Given the description of an element on the screen output the (x, y) to click on. 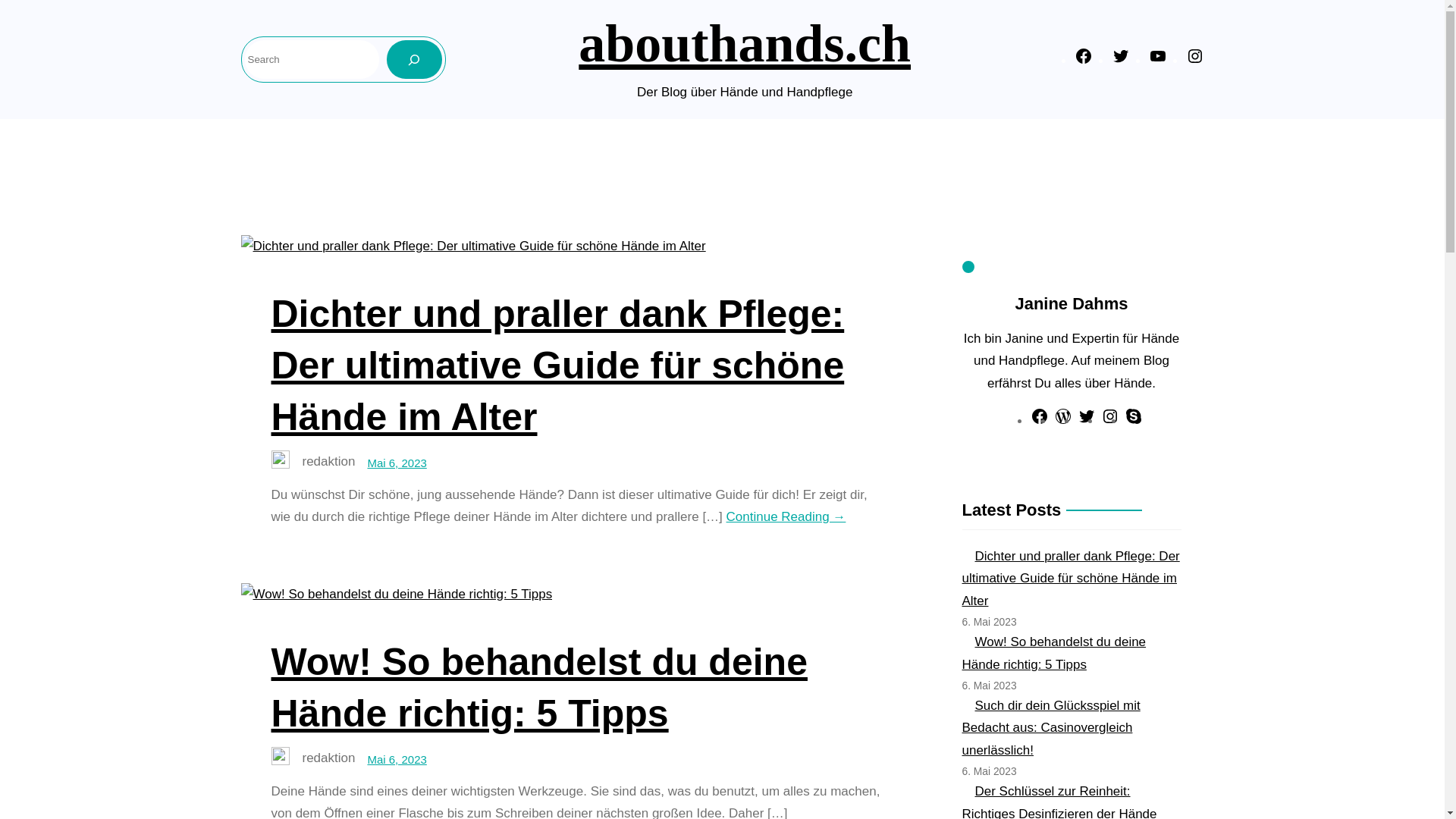
WordPress Element type: text (1063, 421)
Skype Element type: text (1133, 421)
Instagram Element type: text (1110, 421)
Twitter Element type: text (1120, 60)
Mai 6, 2023 Element type: text (396, 462)
Facebook Element type: text (1082, 60)
YouTube Element type: text (1157, 60)
Twitter Element type: text (1086, 421)
Instagram Element type: text (1195, 60)
abouthands.ch Element type: text (744, 43)
Mai 6, 2023 Element type: text (396, 759)
Facebook Element type: text (1039, 421)
